Given the description of an element on the screen output the (x, y) to click on. 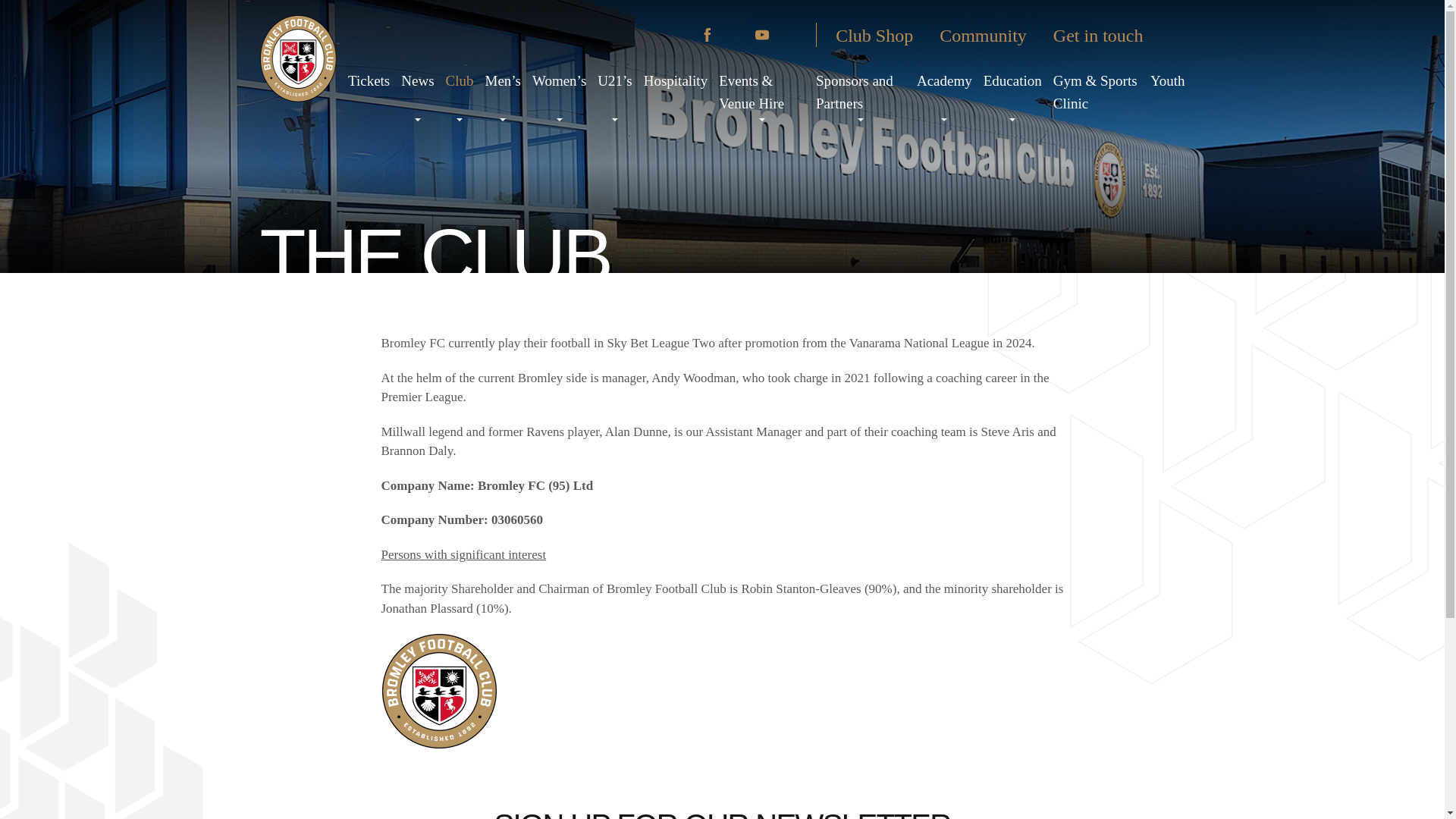
LinkedIn (788, 34)
Community (982, 35)
YouTube (762, 34)
Twitter (679, 34)
TikTok (734, 34)
Club (459, 80)
Club Shop (873, 35)
Search (1173, 34)
Get in touch (1097, 35)
Tickets (368, 80)
